Given the description of an element on the screen output the (x, y) to click on. 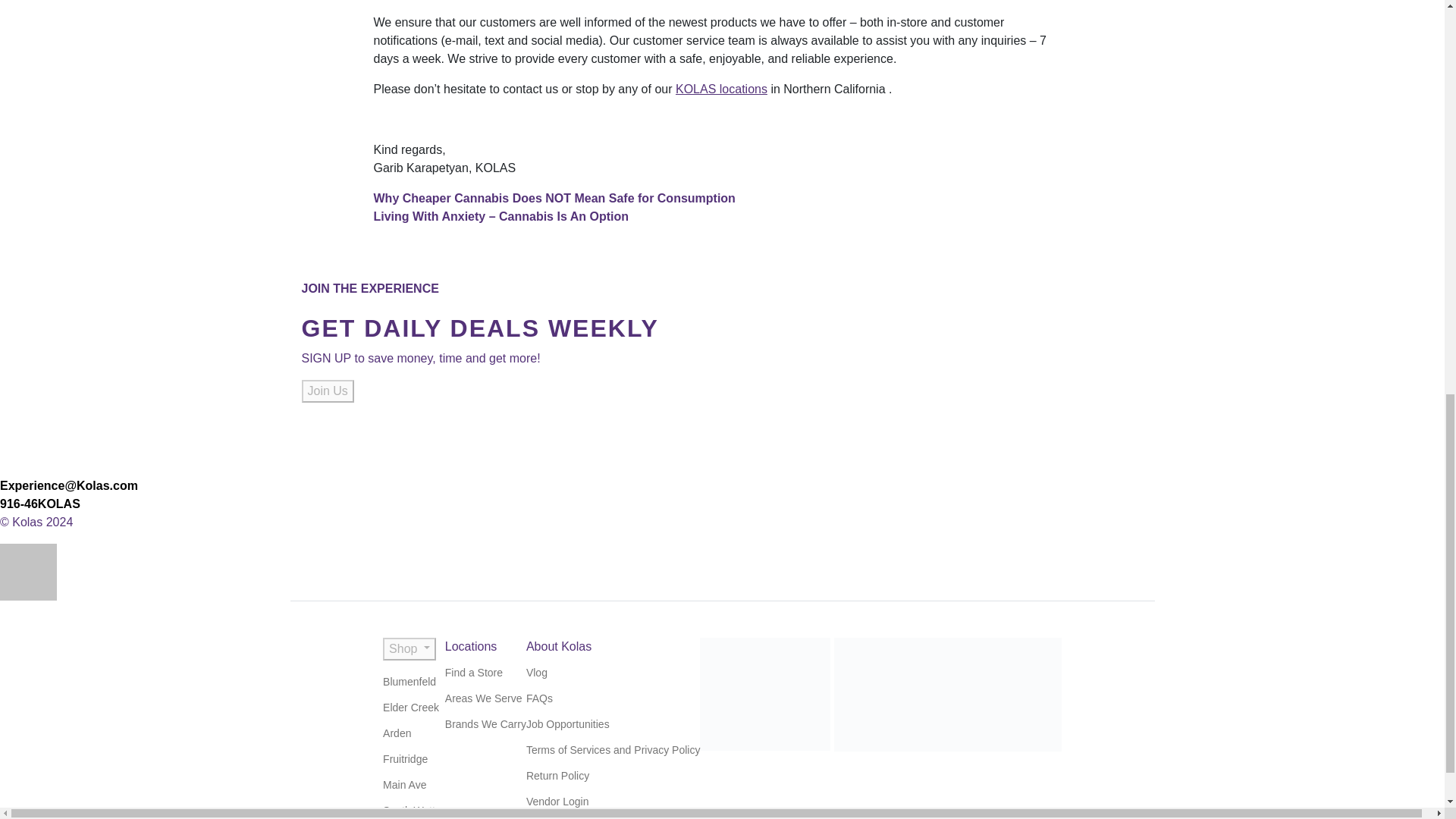
Shop (408, 648)
Elder Creek (410, 706)
Return Policy (557, 775)
Areas We Serve (483, 697)
Terms of Services and Privacy Policy (612, 748)
Join Us (327, 390)
Vendor Login (557, 800)
Fruitridge (405, 758)
South Watt (408, 809)
916-46KOLAS (40, 503)
FAQs (539, 697)
Main Ave (404, 784)
Why Cheaper Cannabis Does NOT Mean Safe for Consumption (553, 197)
Find a Store (473, 671)
Vlog (536, 671)
